Given the description of an element on the screen output the (x, y) to click on. 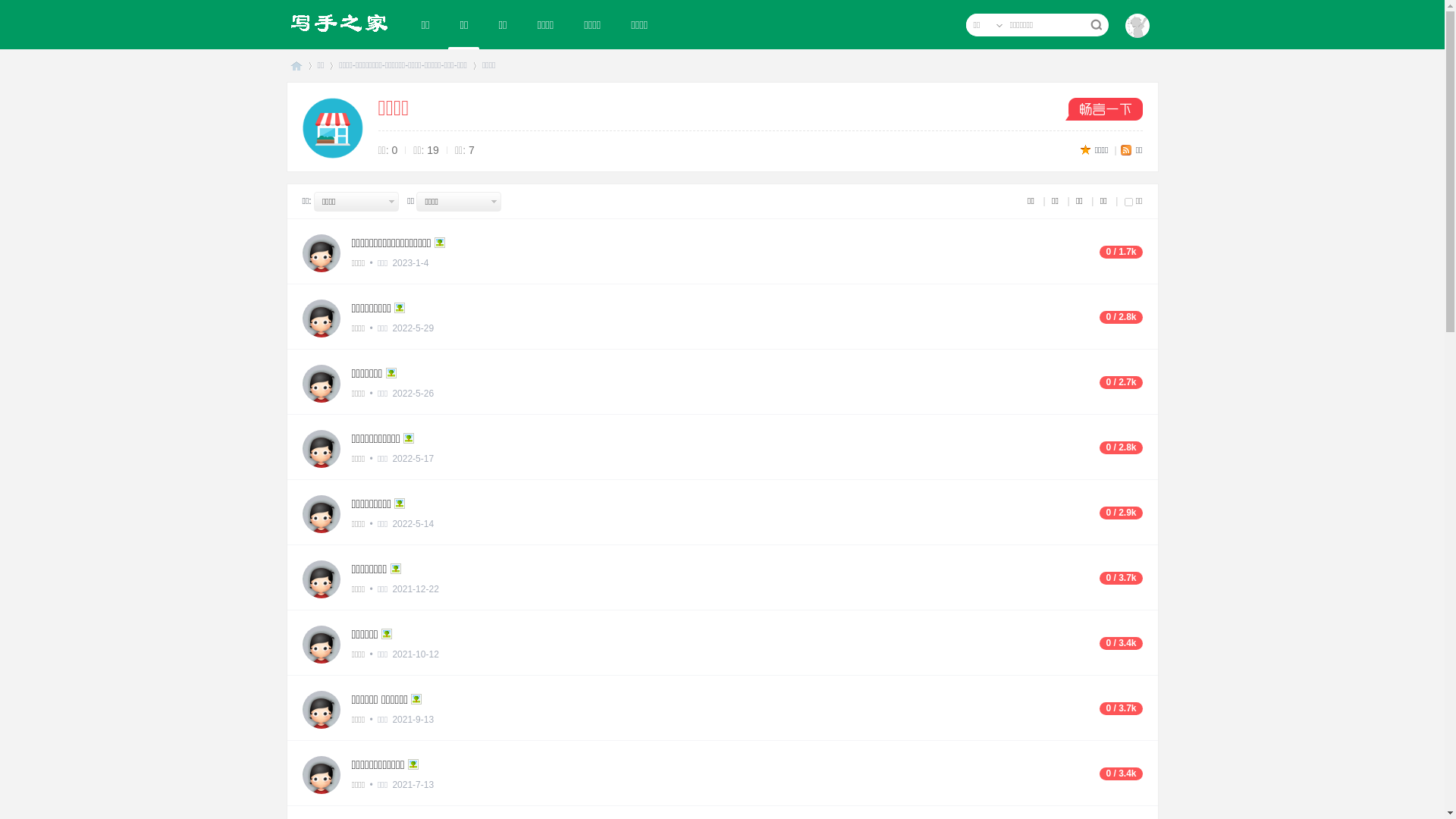
true Element type: text (1094, 24)
